Given the description of an element on the screen output the (x, y) to click on. 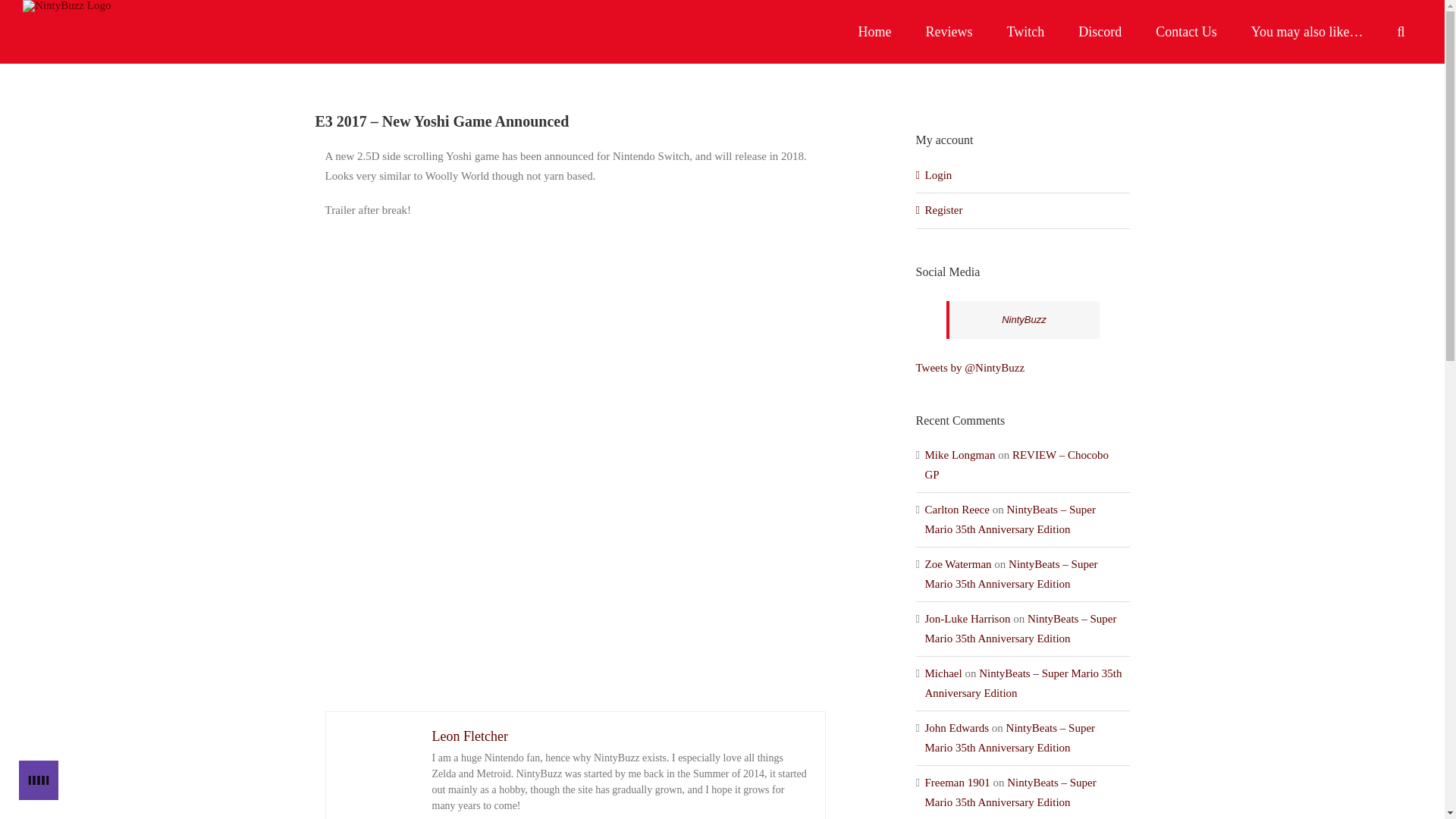
Search (1401, 31)
Home (874, 31)
Reviews (949, 31)
Contact Us (1186, 31)
Discord (1099, 31)
Leon Fletcher (470, 735)
Twitch (1025, 31)
